Given the description of an element on the screen output the (x, y) to click on. 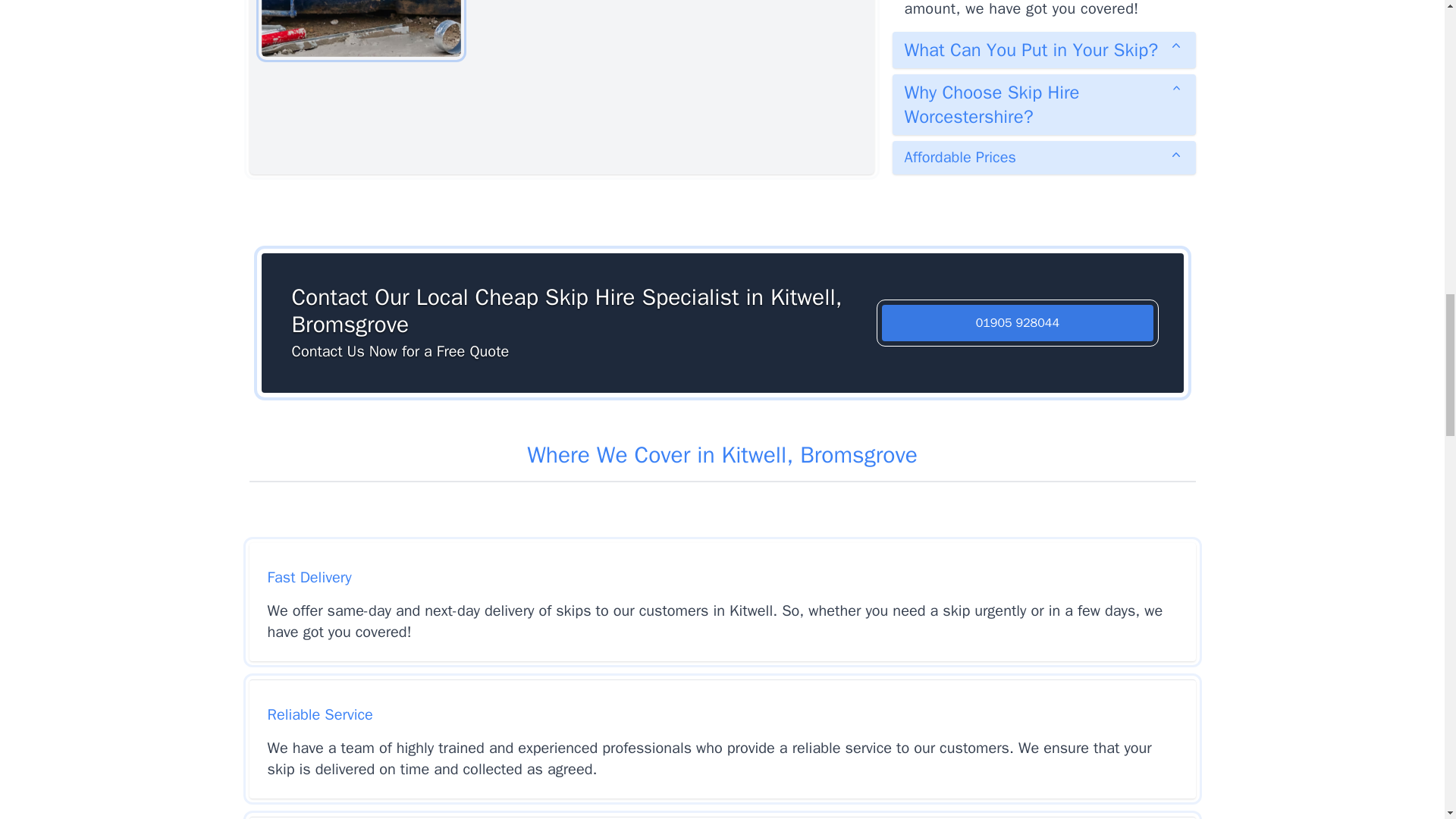
Affordable Prices (1043, 157)
01905 928044 (1017, 322)
Why Choose Skip Hire Worcestershire? (1043, 104)
What Can You Put in Your Skip? (1043, 49)
